Given the description of an element on the screen output the (x, y) to click on. 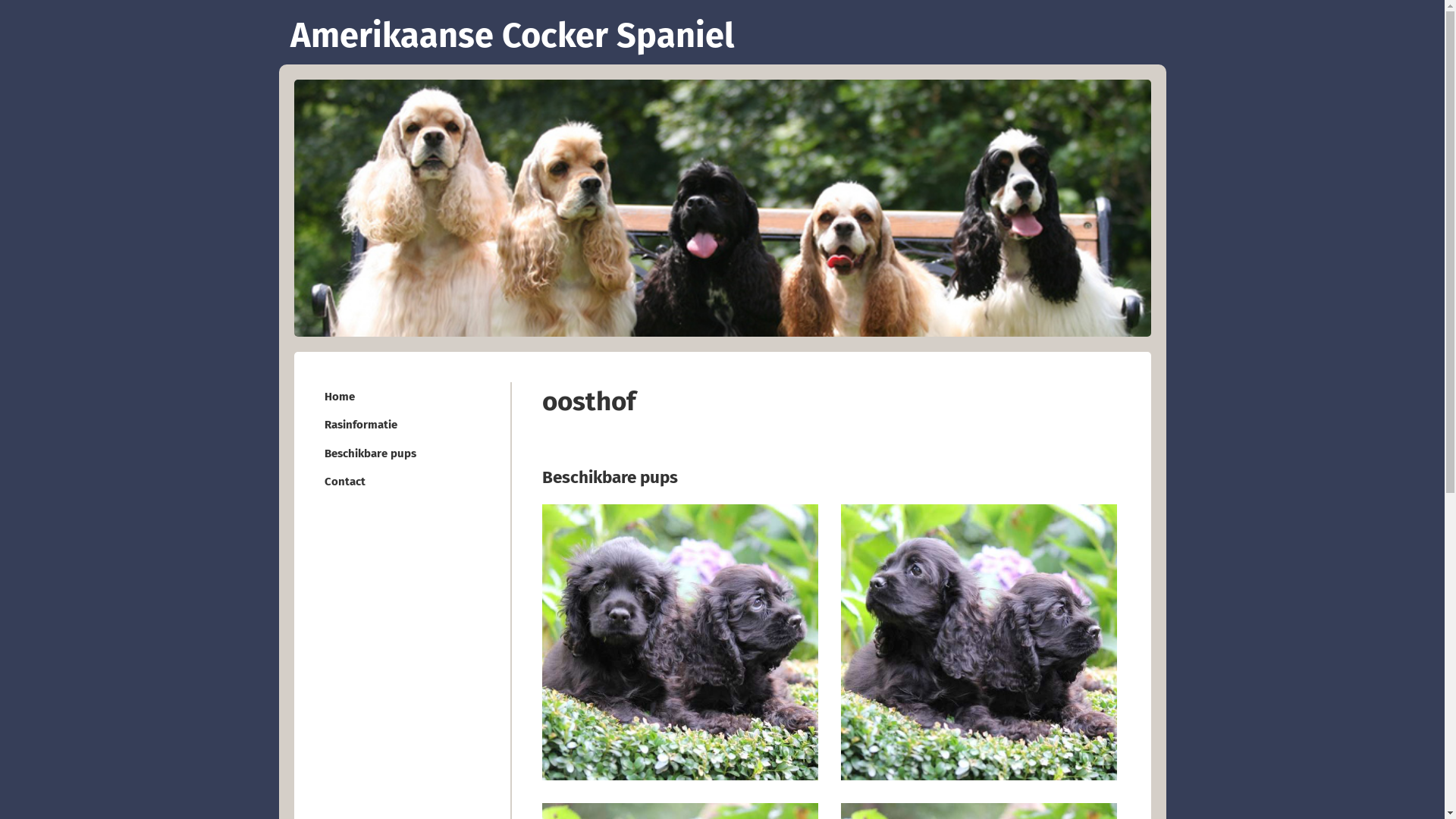
Contact Element type: text (403, 481)
Rasinformatie Element type: text (403, 424)
Home Element type: text (403, 396)
Beschikbare pups Element type: text (403, 453)
Amerikaanse Cocker Spaniel Element type: text (721, 32)
